Given the description of an element on the screen output the (x, y) to click on. 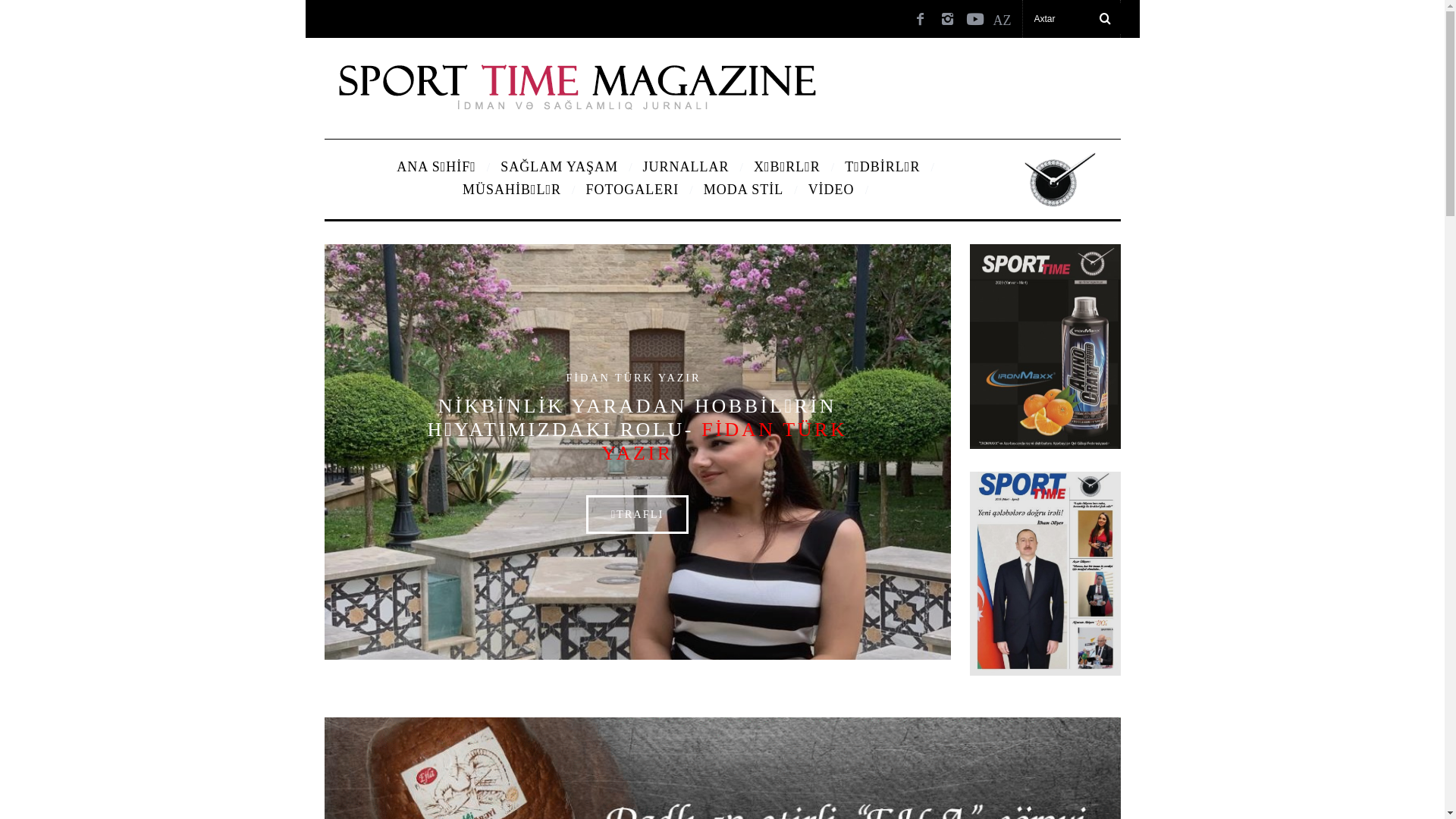
JURNALLAR Element type: text (686, 166)
AZ Element type: text (1002, 16)
VIDEO Element type: text (831, 189)
FOTOGALERI Element type: text (632, 189)
